Given the description of an element on the screen output the (x, y) to click on. 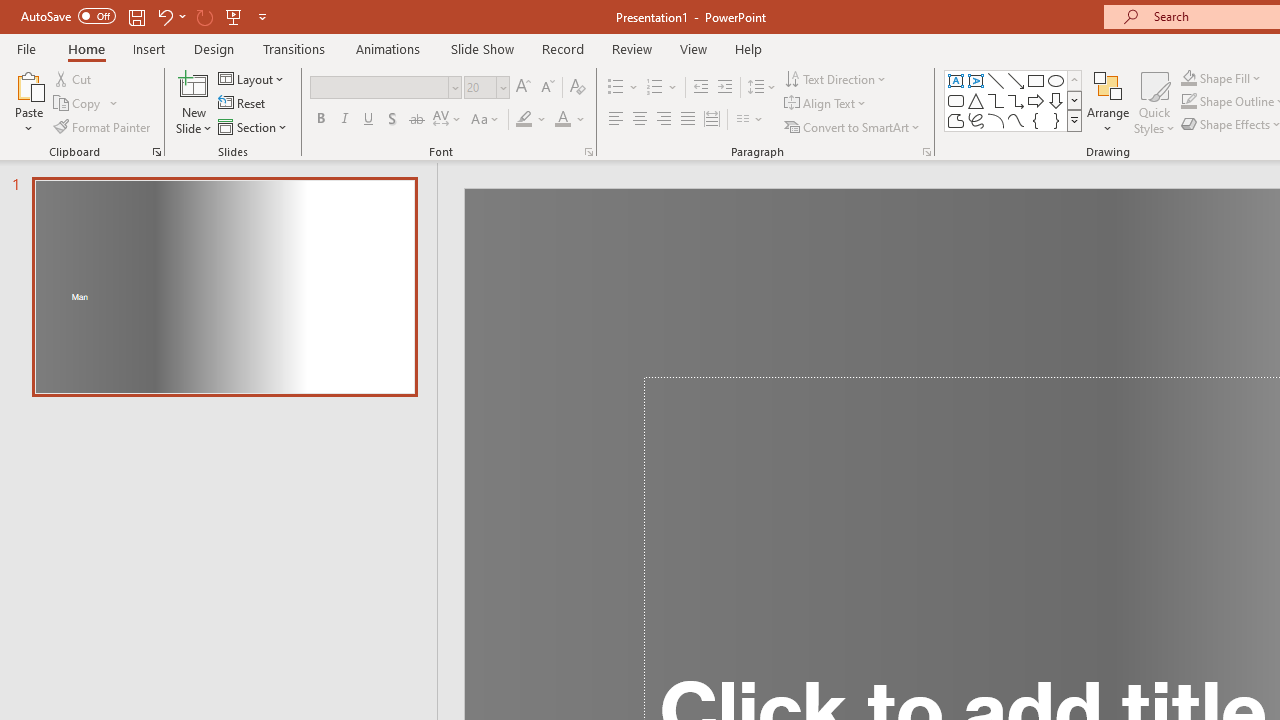
Quick Styles (1154, 102)
View (693, 48)
Underline (369, 119)
Bold (320, 119)
Font Size (480, 87)
Left Brace (1035, 120)
Insert (149, 48)
Font... (588, 151)
Layout (252, 78)
Isosceles Triangle (975, 100)
Justify (687, 119)
Arrow: Down (1055, 100)
Shape Fill (1221, 78)
Line (995, 80)
Text Box (955, 80)
